Given the description of an element on the screen output the (x, y) to click on. 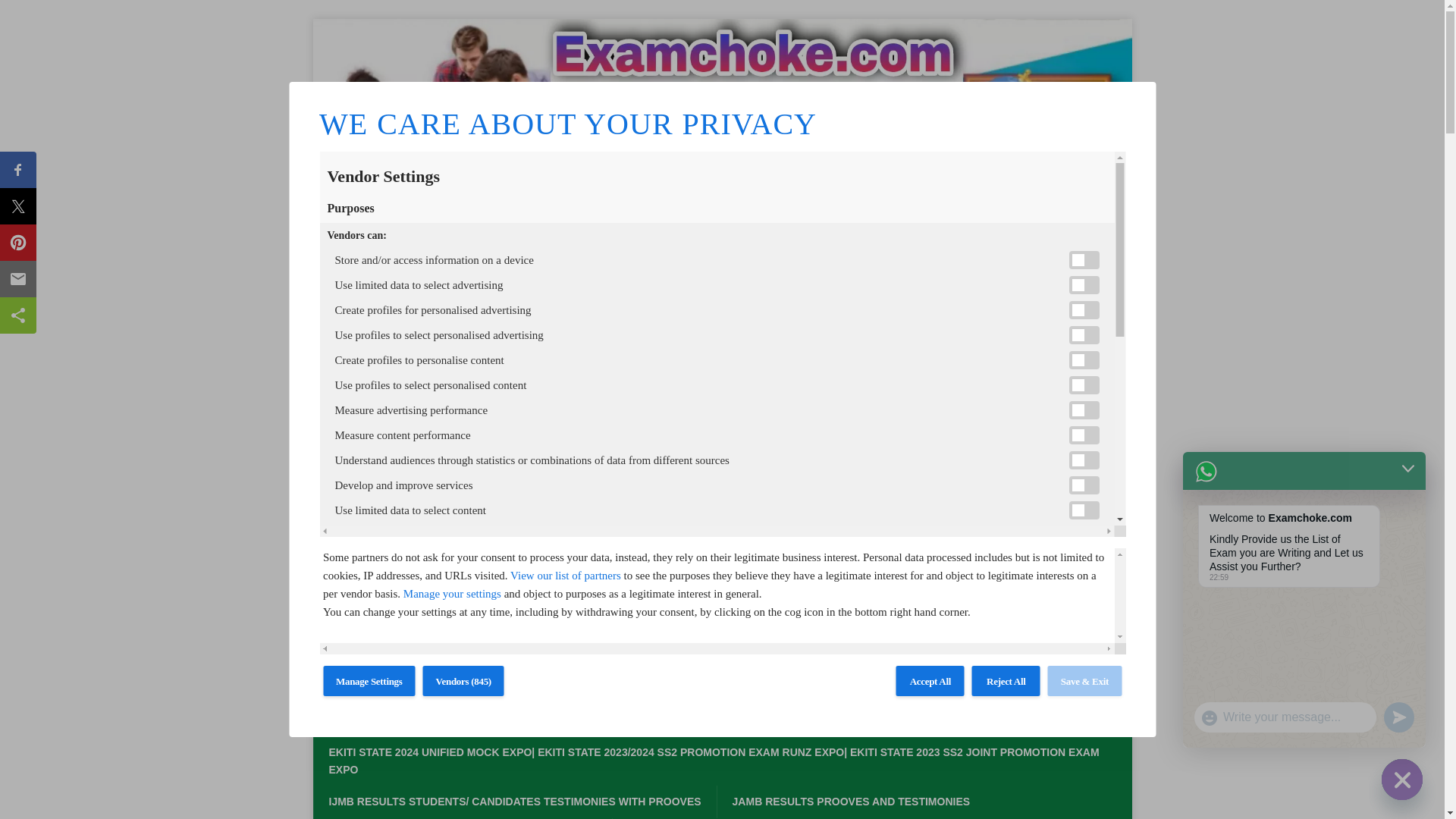
BEST EXAM RUNZ EXPO SITE (722, 222)
BEST EXAM RUNZ EXPO SITE (721, 281)
